Given the description of an element on the screen output the (x, y) to click on. 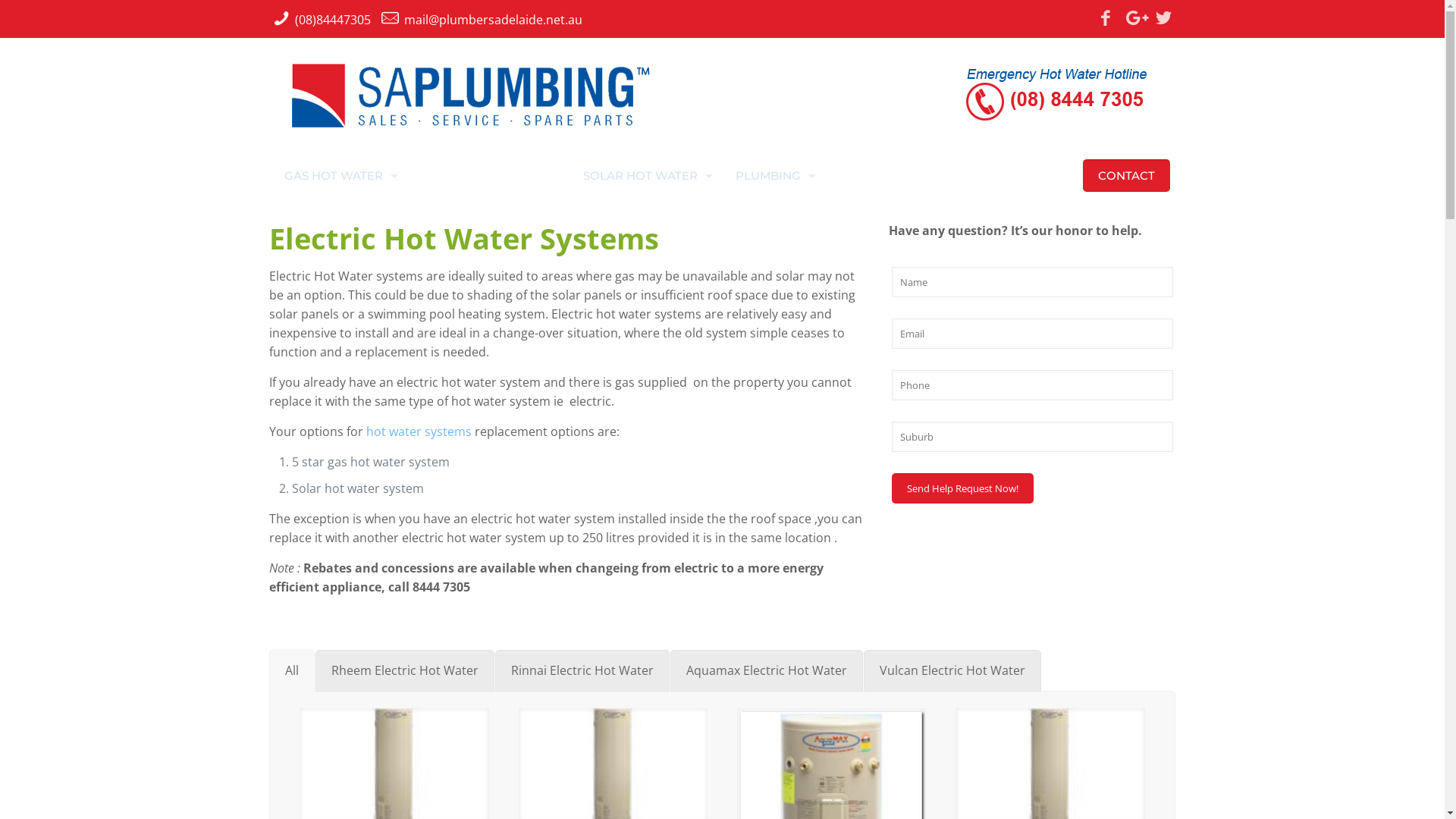
Aquamax Electric Hot Water Element type: text (766, 670)
SOLAR HOT WATER Element type: text (643, 175)
GAS HOT WATER Element type: text (337, 175)
All Element type: text (291, 670)
PLUMBING Element type: text (771, 175)
Facebook Element type: hover (1105, 17)
Twitter Element type: hover (1163, 17)
Vulcan Electric Hot Water Element type: text (952, 670)
(08)84447305 Element type: text (332, 19)
hot water systems Element type: text (418, 431)
Google+ Element type: hover (1134, 17)
mail@plumbersadelaide.net.au Element type: text (493, 19)
CONTACT Element type: text (1126, 175)
ELECTRIC HOT WATER Element type: text (486, 175)
Send Help Request Now! Element type: text (962, 488)
Rheem Electric Hot Water Element type: text (404, 670)
Rinnai Electric Hot Water Element type: text (582, 670)
